Given the description of an element on the screen output the (x, y) to click on. 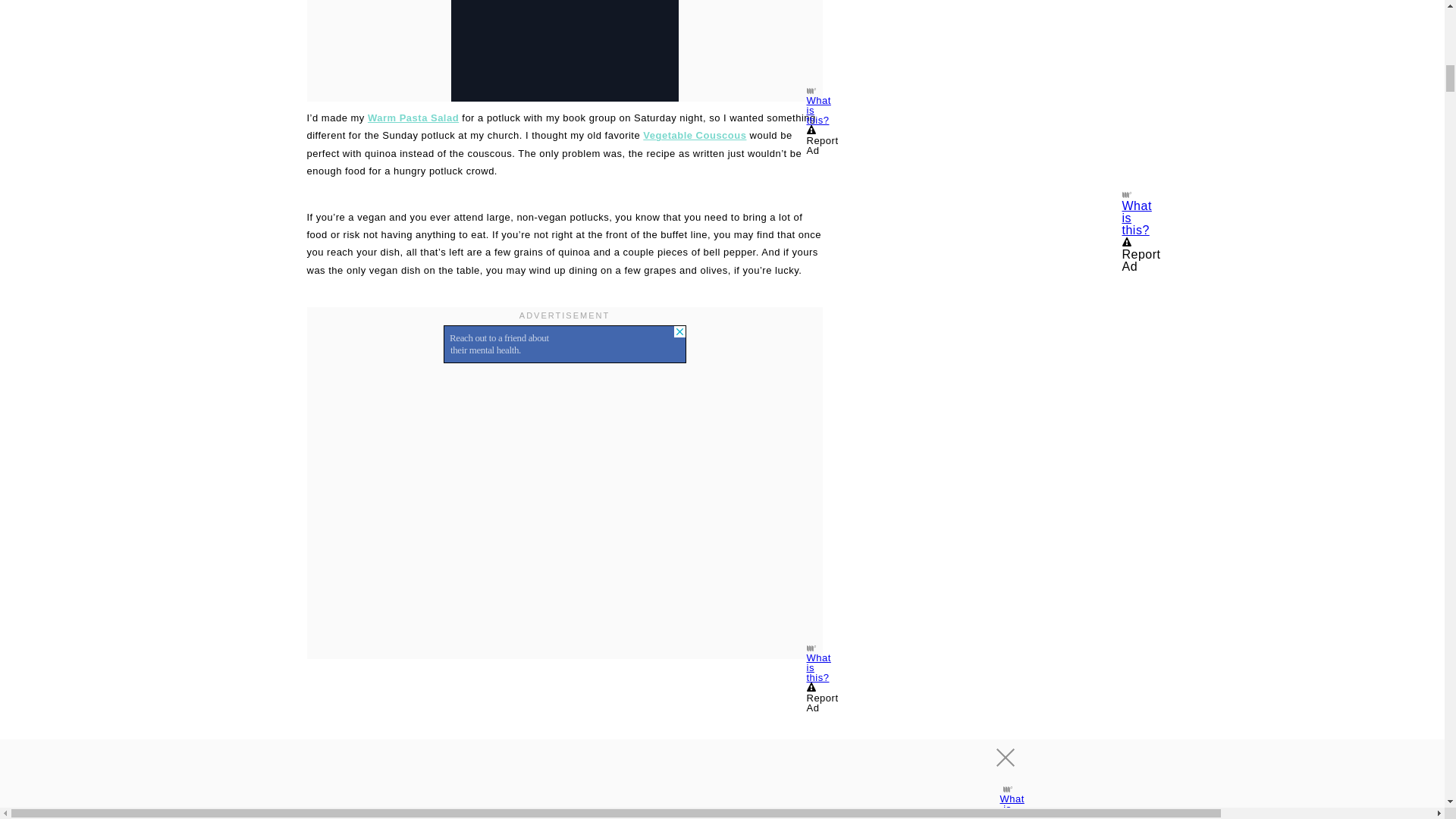
Warm Pasta Salad (413, 117)
Cumin-Infused Vegetables and Chickpeas over Quinoa (563, 742)
3rd party ad content (1023, 94)
Vegetable Couscous (694, 134)
3rd party ad content (563, 344)
